Given the description of an element on the screen output the (x, y) to click on. 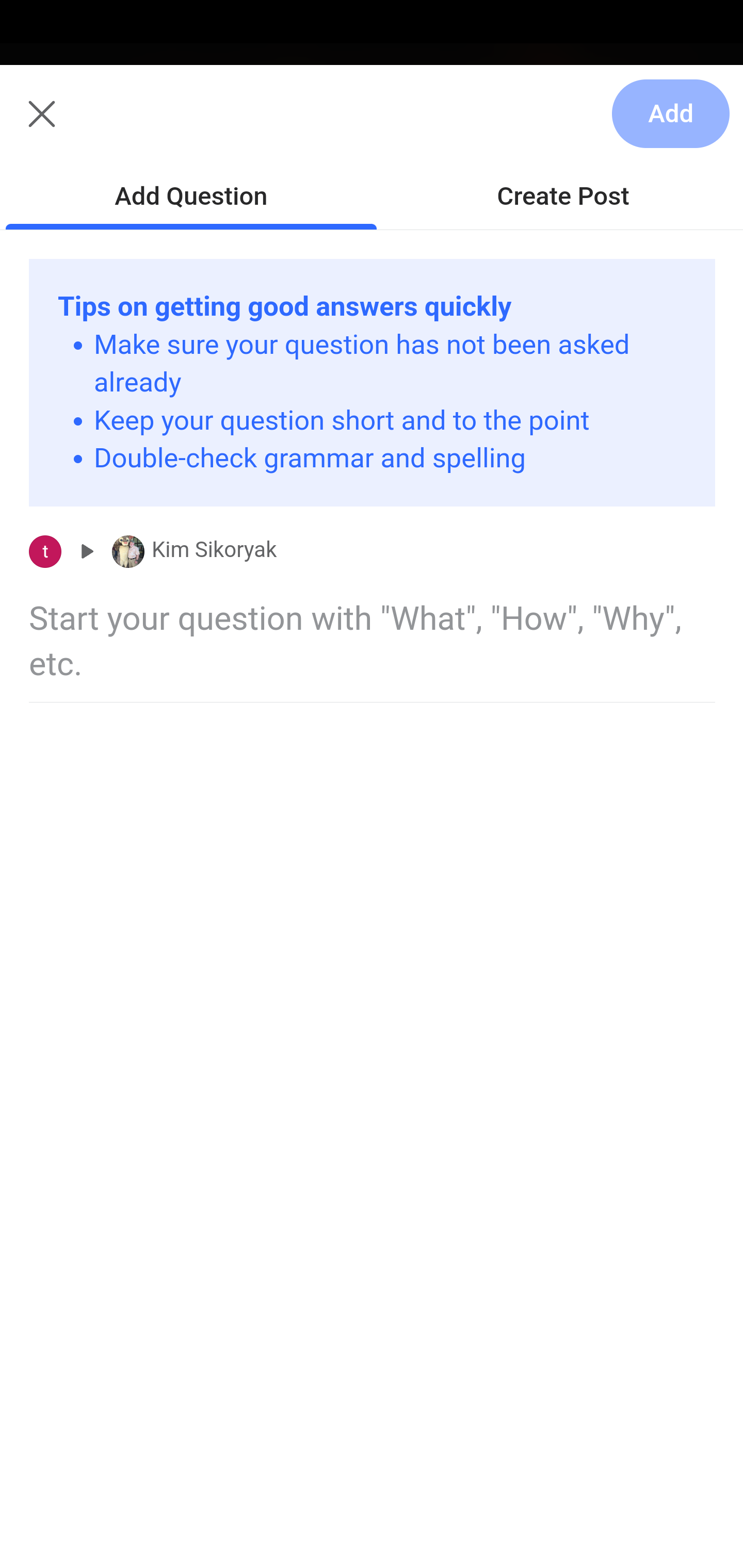
View 8 upvotes (201, 551)
